Given the description of an element on the screen output the (x, y) to click on. 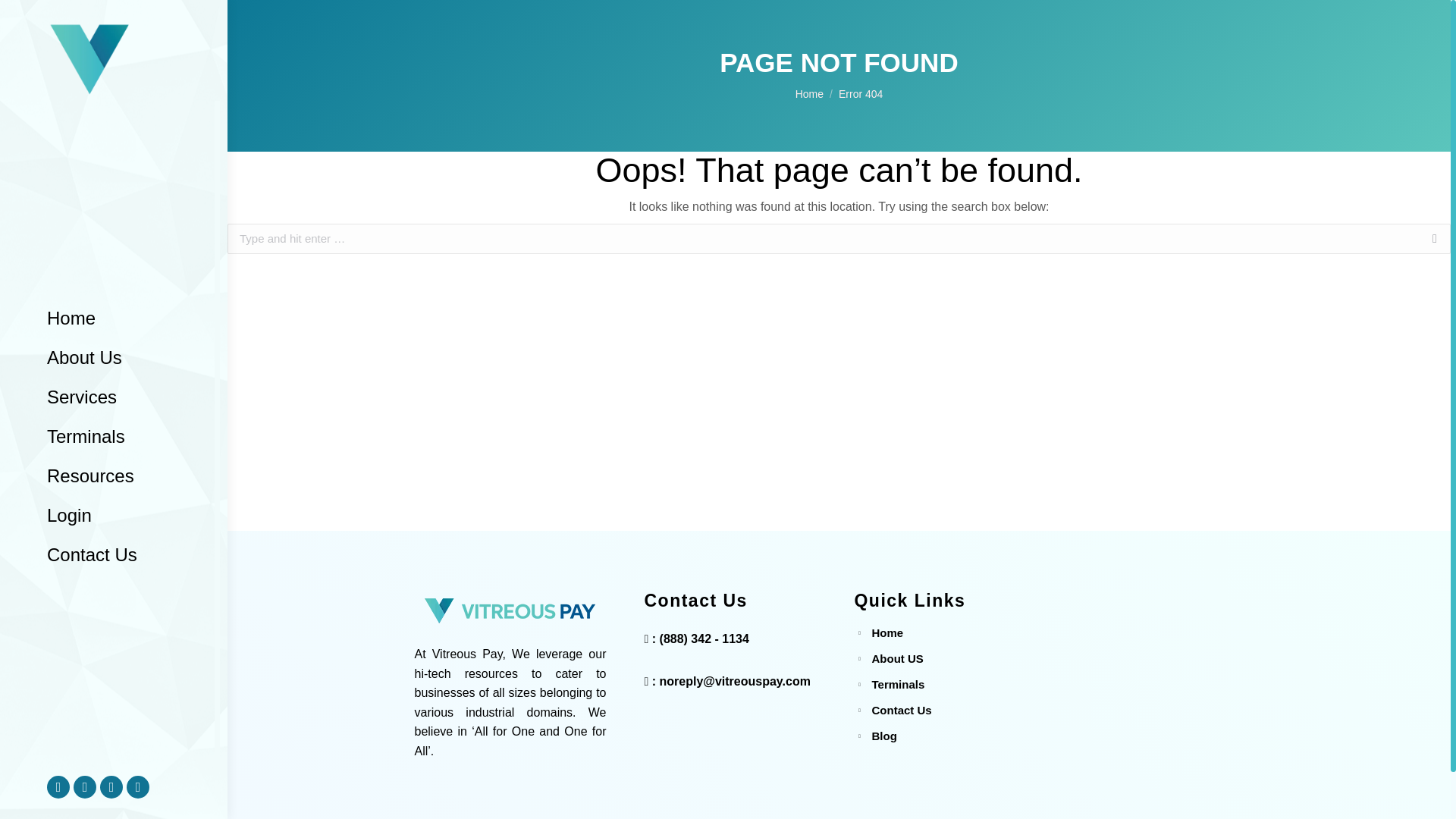
Facebook page opens in new window (57, 786)
Home (809, 93)
Resources (89, 476)
Home (70, 318)
Instagram page opens in new window (111, 786)
Contact Us (92, 554)
About Us (84, 357)
Login (68, 515)
Twitter page opens in new window (85, 786)
YouTube page opens in new window (137, 786)
